Given the description of an element on the screen output the (x, y) to click on. 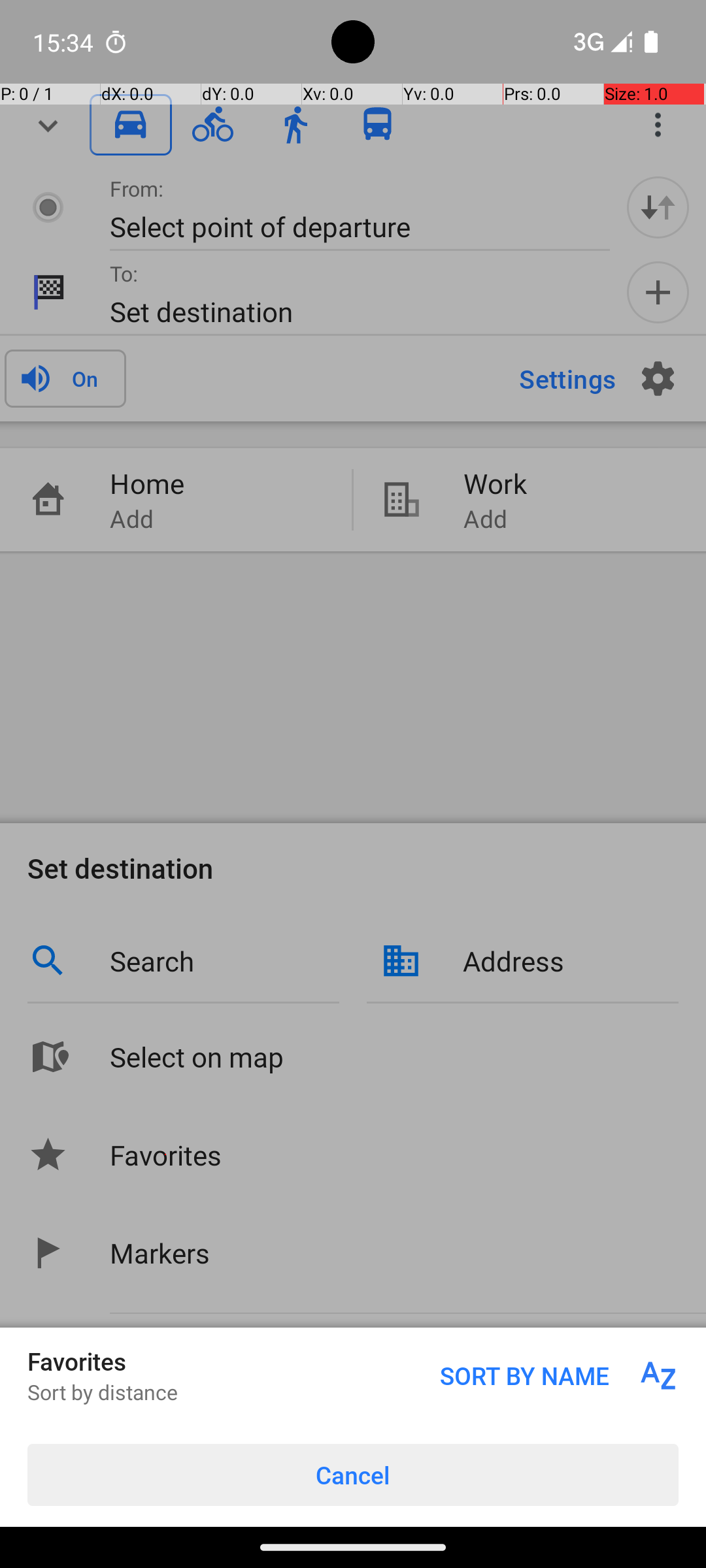
Sort by distance Element type: android.widget.TextView (102, 1391)
SORT BY NAME Element type: android.widget.TextView (559, 1375)
